Given the description of an element on the screen output the (x, y) to click on. 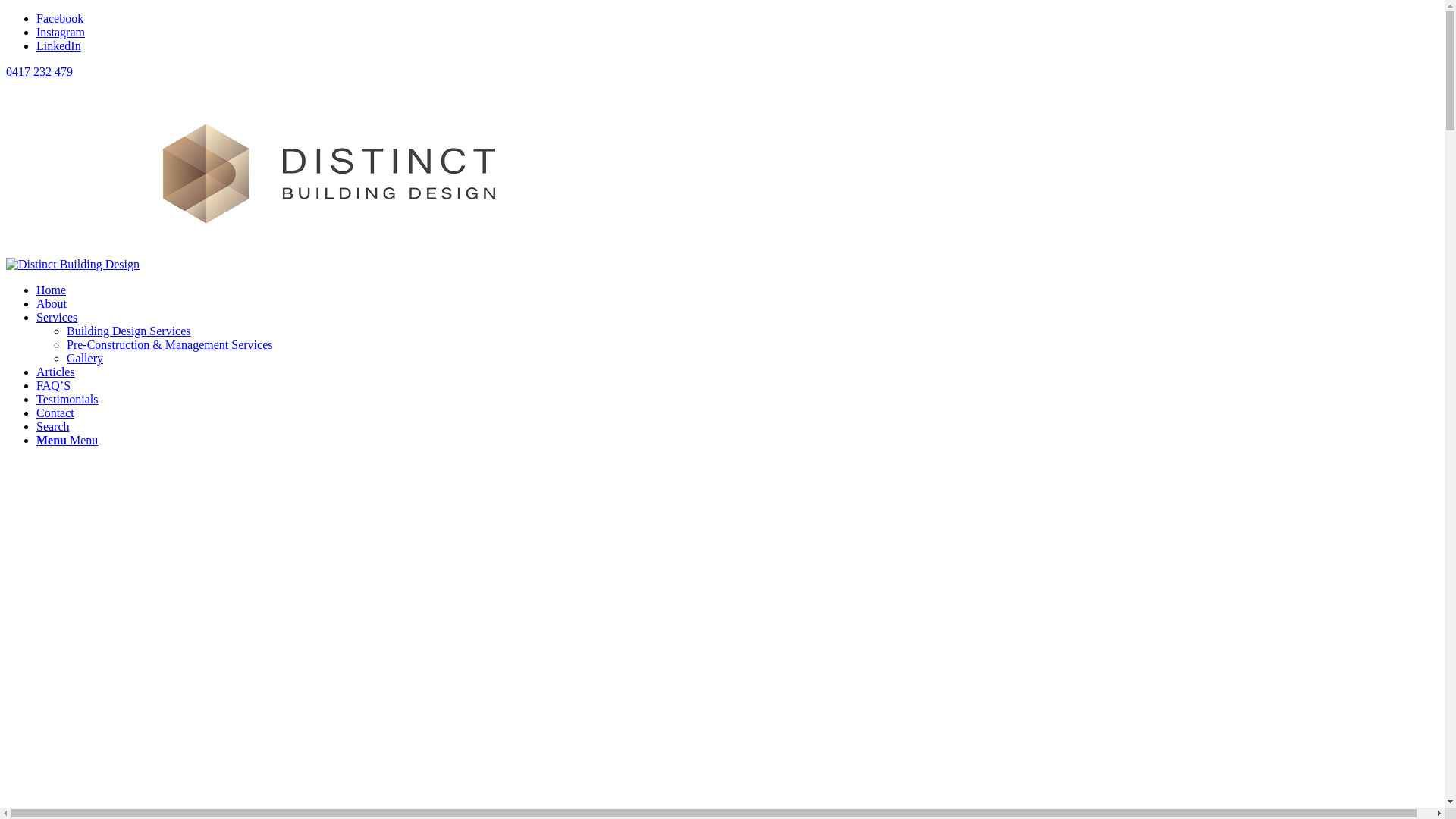
Building Design Services Element type: text (128, 330)
Gallery Element type: text (84, 357)
About Element type: text (51, 303)
Menu Menu Element type: text (66, 439)
Home Element type: text (50, 289)
Articles Element type: text (55, 371)
Search Element type: text (52, 426)
Contact Element type: text (55, 412)
LinkedIn Element type: text (58, 45)
0417 232 479 Element type: text (39, 71)
Instagram Element type: text (60, 31)
Testimonials Element type: text (67, 398)
Facebook Element type: text (59, 18)
Pre-Construction & Management Services Element type: text (169, 344)
Services Element type: text (56, 316)
